Given the description of an element on the screen output the (x, y) to click on. 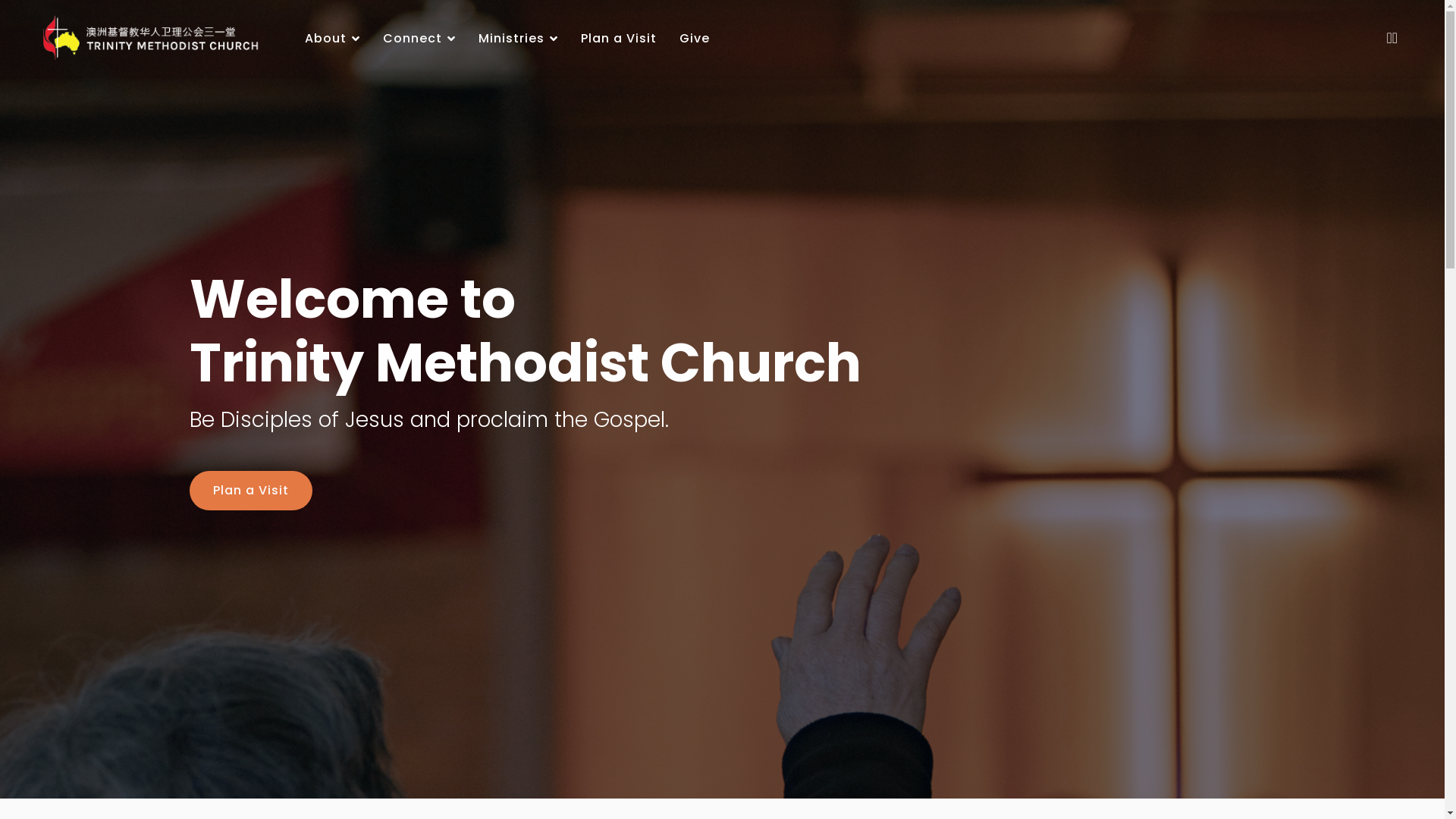
Plan a Visit Element type: text (250, 490)
Connect Element type: text (419, 39)
Ministries Element type: text (518, 39)
Plan a Visit Element type: text (618, 39)
About Element type: text (332, 39)
Give Element type: text (688, 39)
